Given the description of an element on the screen output the (x, y) to click on. 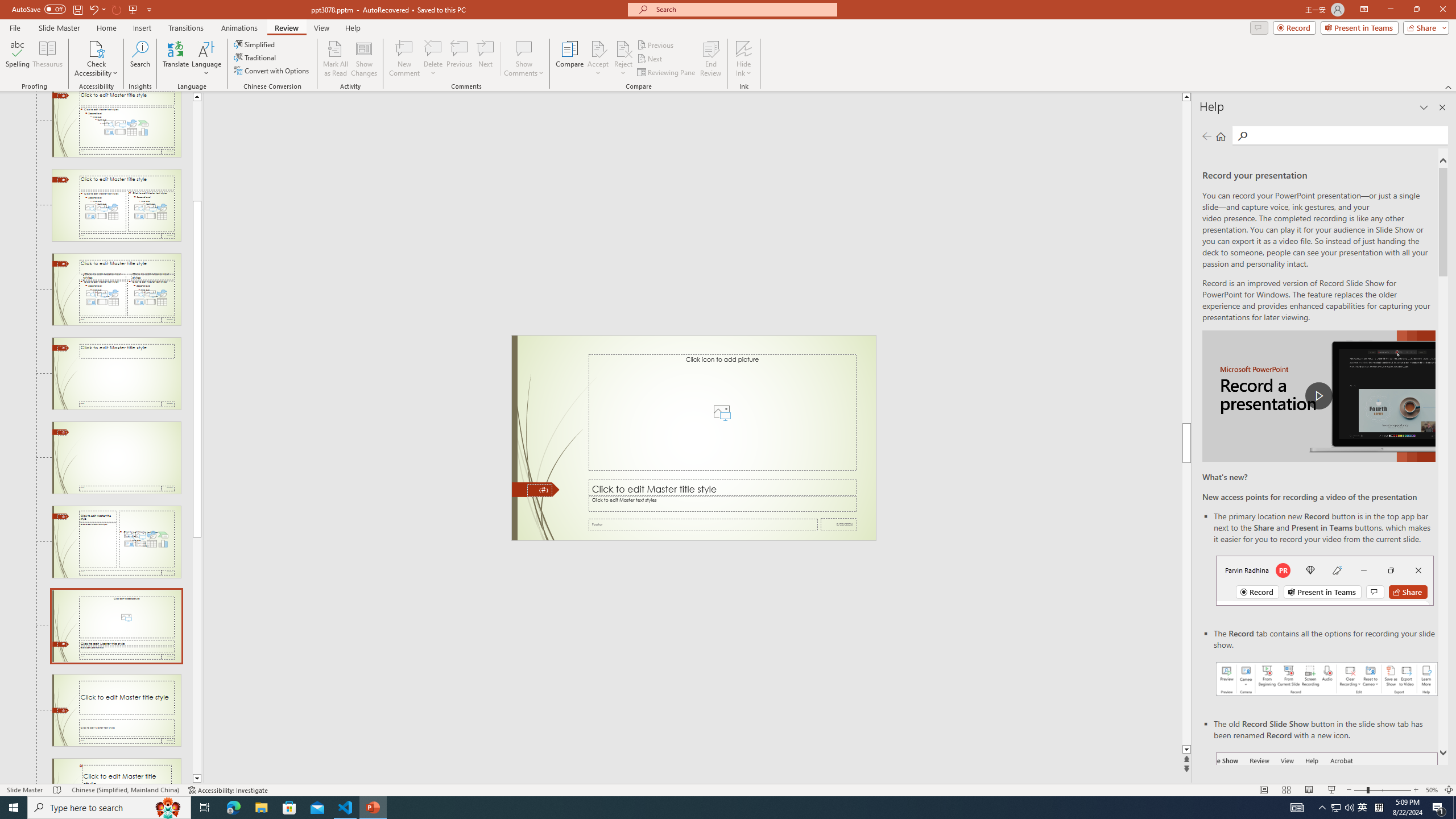
Slide Quote with Caption Layout: used by no slides (116, 770)
Slide Title Only Layout: used by no slides (116, 373)
Thesaurus... (47, 58)
Slide Title and Content Layout: used by no slides (116, 124)
